Given the description of an element on the screen output the (x, y) to click on. 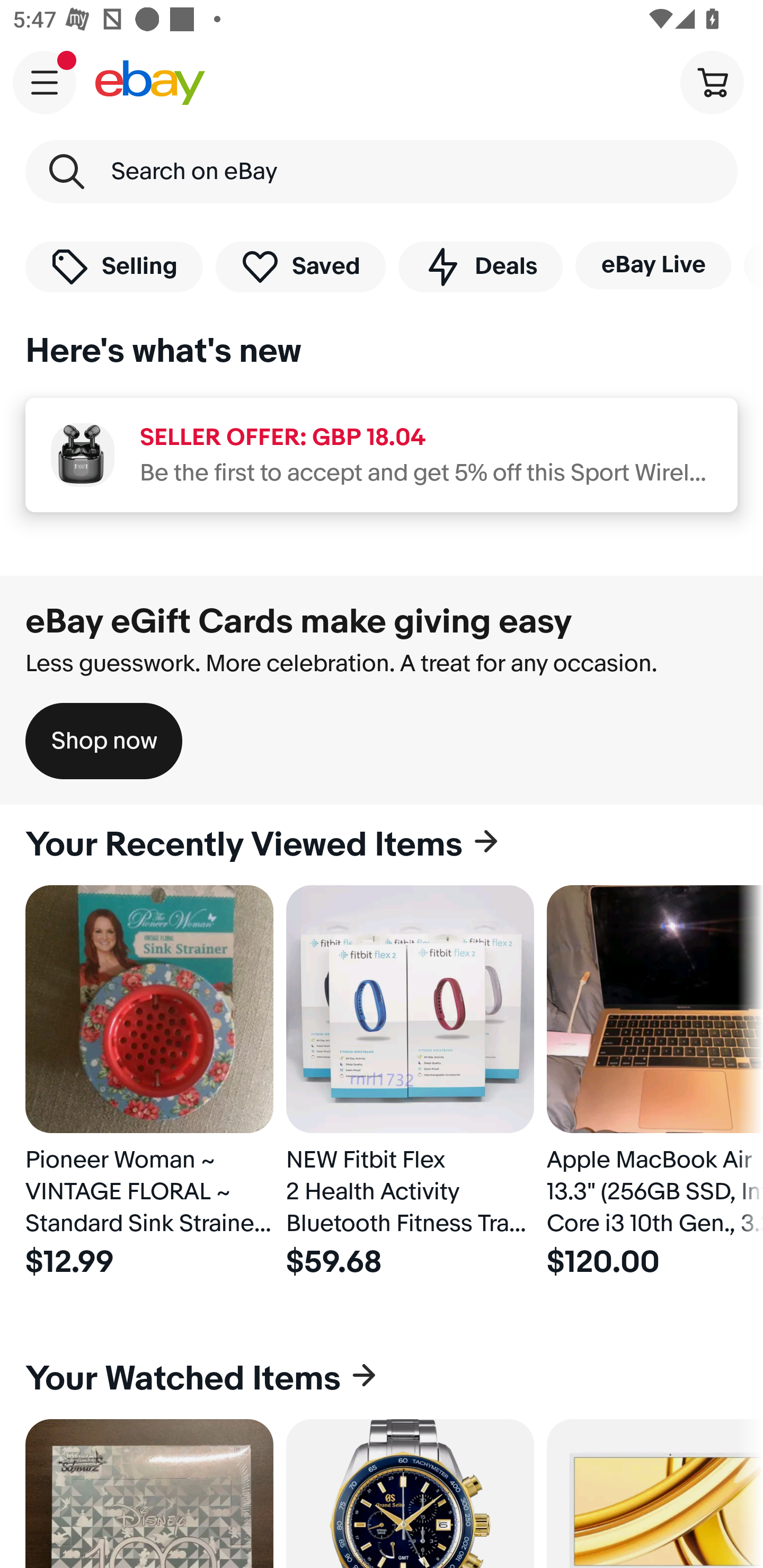
Main navigation, notification is pending, open (44, 82)
Cart button shopping cart (711, 81)
Search on eBay Search Keyword Search on eBay (381, 171)
Selling (113, 266)
Saved (300, 266)
Deals (480, 266)
eBay Live (652, 264)
eBay eGift Cards make giving easy (298, 621)
Shop now (103, 740)
Your Recently Viewed Items   (381, 844)
Your Watched Items   (381, 1379)
